Given the description of an element on the screen output the (x, y) to click on. 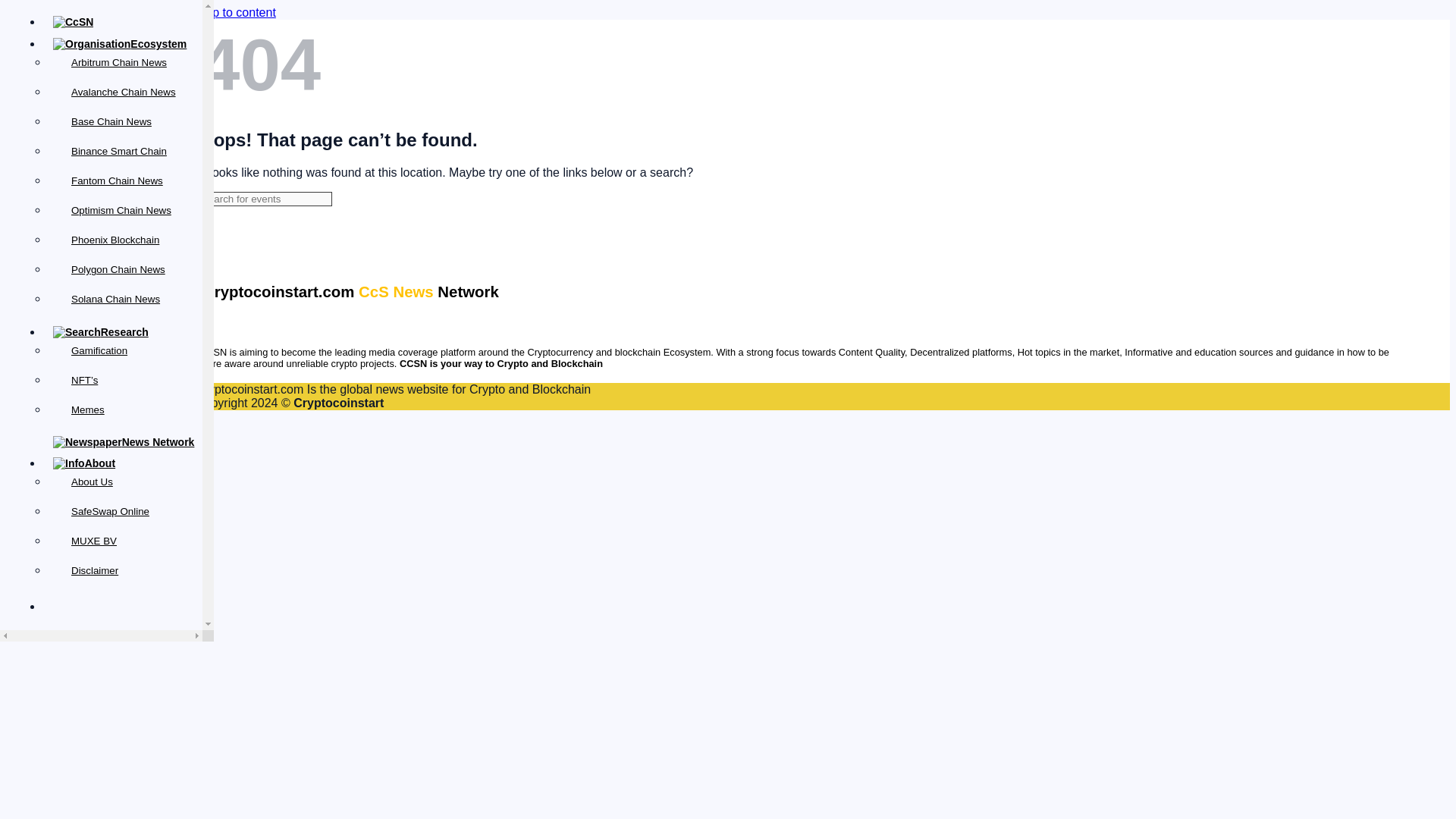
CryptocoinStart - Start your crypto journey with knowledge (72, 21)
Solana Chain News (115, 298)
Research (100, 331)
Base Chain News (111, 121)
Skip to content (235, 11)
Polygon Chain News (118, 269)
Phoenix Blockchain (114, 239)
Avalanche Chain News (123, 91)
Arbitrum Chain News (119, 61)
Optimism Chain News (121, 210)
Ecosystem (119, 43)
Binance Smart Chain (119, 151)
Gamification (99, 350)
Fantom Chain News (117, 180)
